Given the description of an element on the screen output the (x, y) to click on. 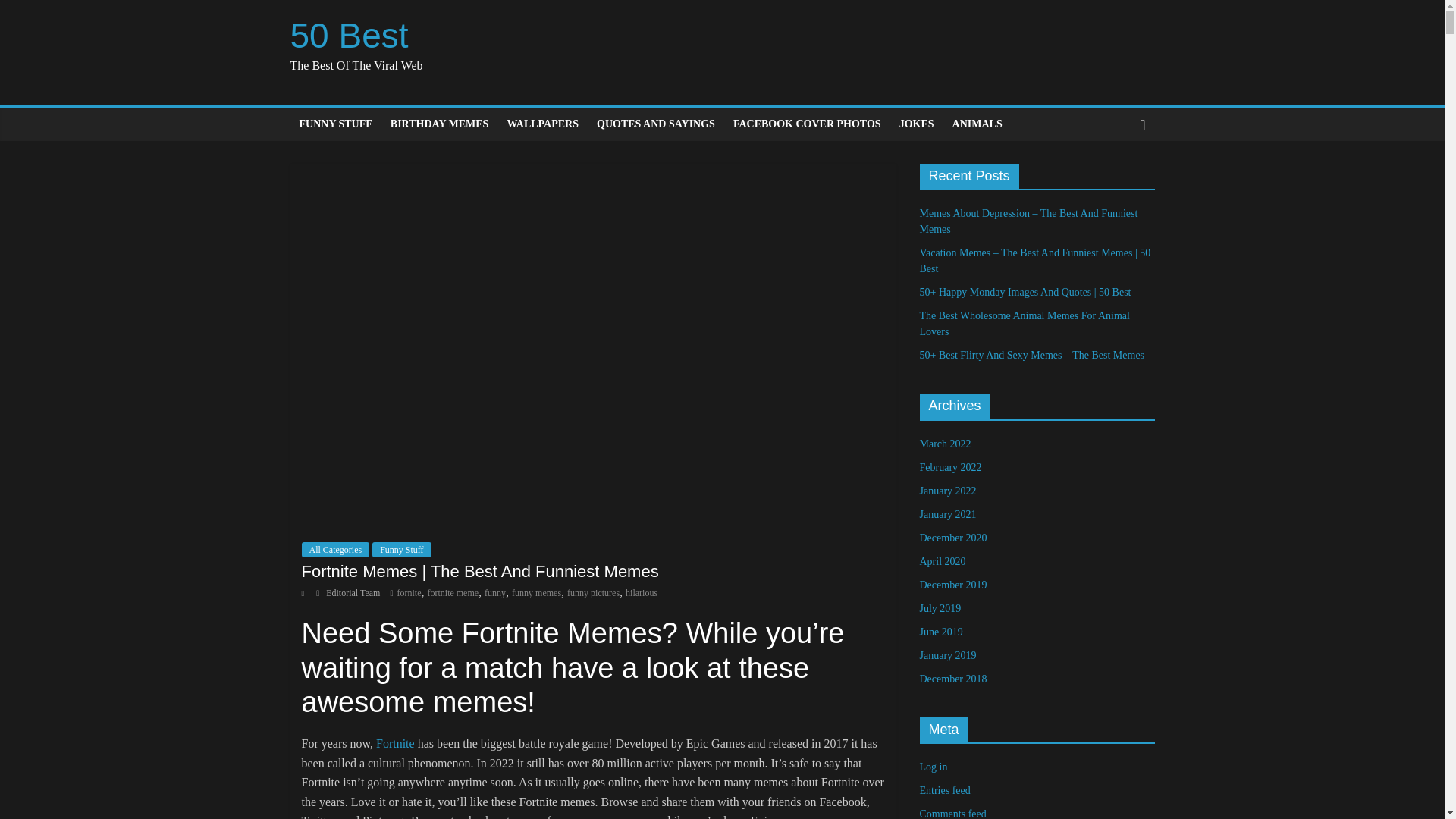
fortnite meme (452, 593)
fornite (408, 593)
Fortnite (394, 743)
50 Best (348, 35)
Editorial Team (353, 593)
February 2022 (949, 467)
March 2022 (944, 443)
BIRTHDAY MEMES (439, 124)
April 2020 (941, 561)
Fortnite (394, 743)
